Given the description of an element on the screen output the (x, y) to click on. 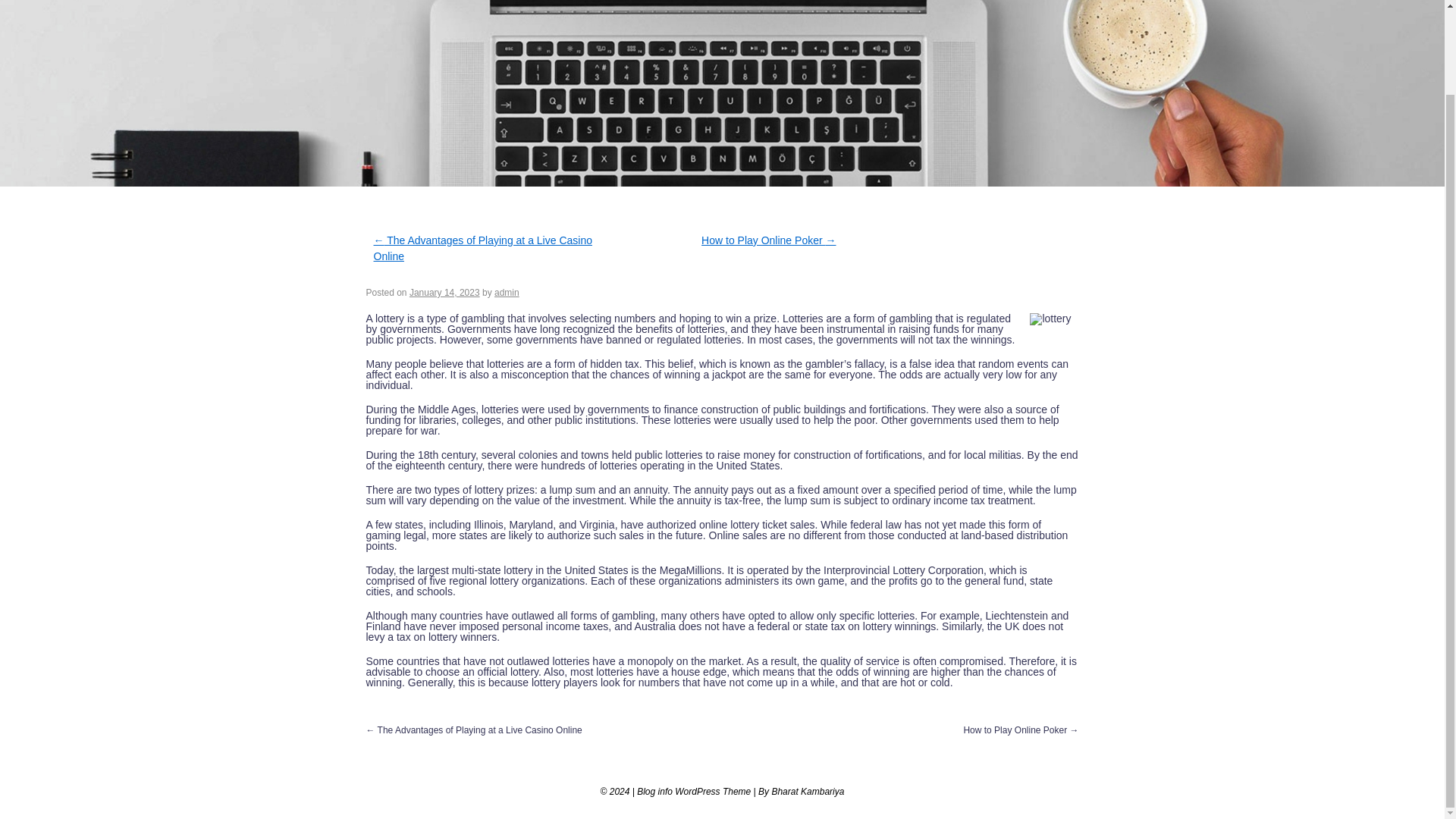
admin (507, 292)
January 14, 2023 (444, 292)
10:15 pm (444, 292)
View all posts by admin (507, 292)
